Given the description of an element on the screen output the (x, y) to click on. 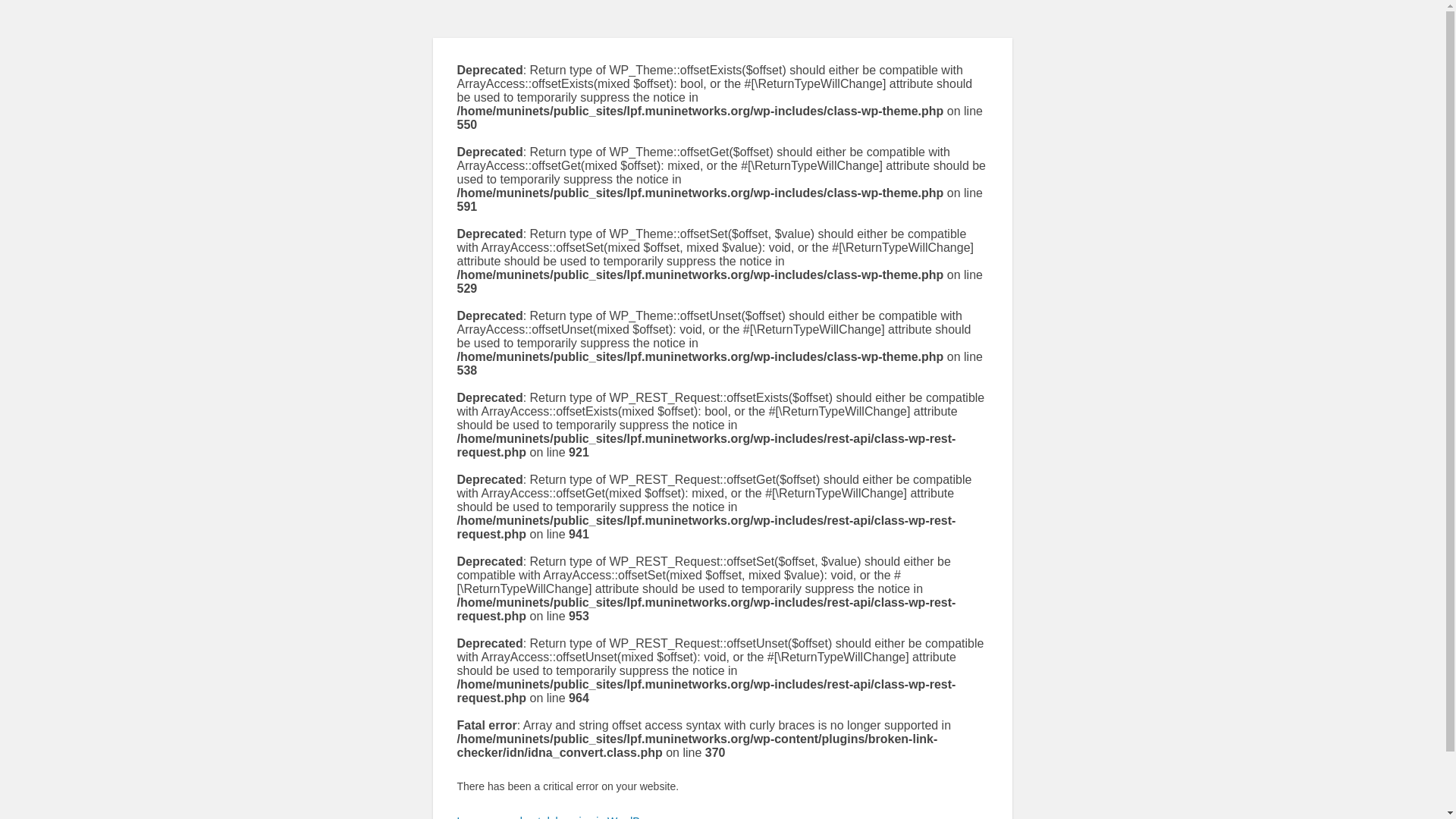
Learn more about debugging in WordPress. (559, 816)
